Given the description of an element on the screen output the (x, y) to click on. 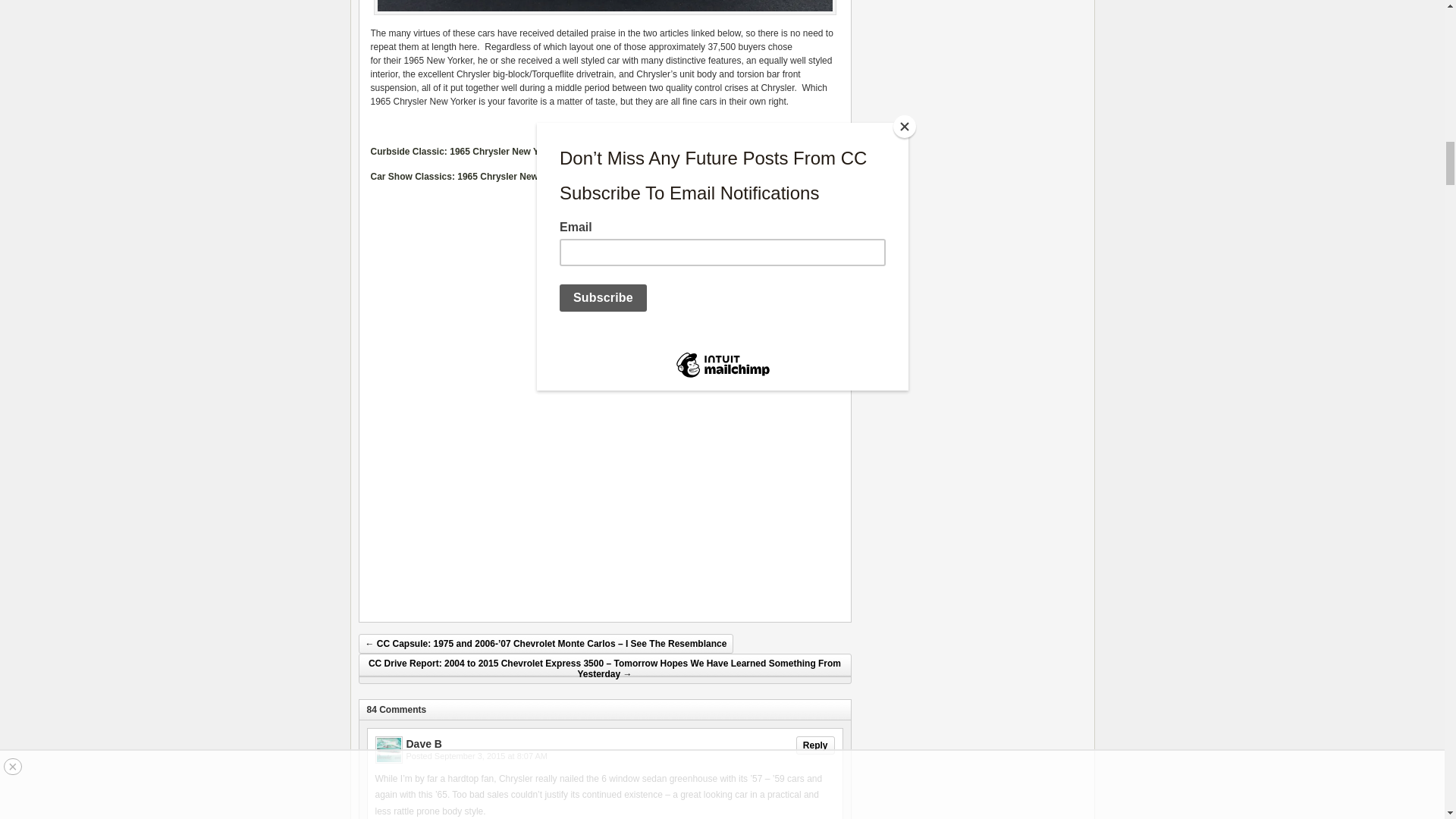
2015-09-03T08:07:54-07:00 (490, 755)
